Given the description of an element on the screen output the (x, y) to click on. 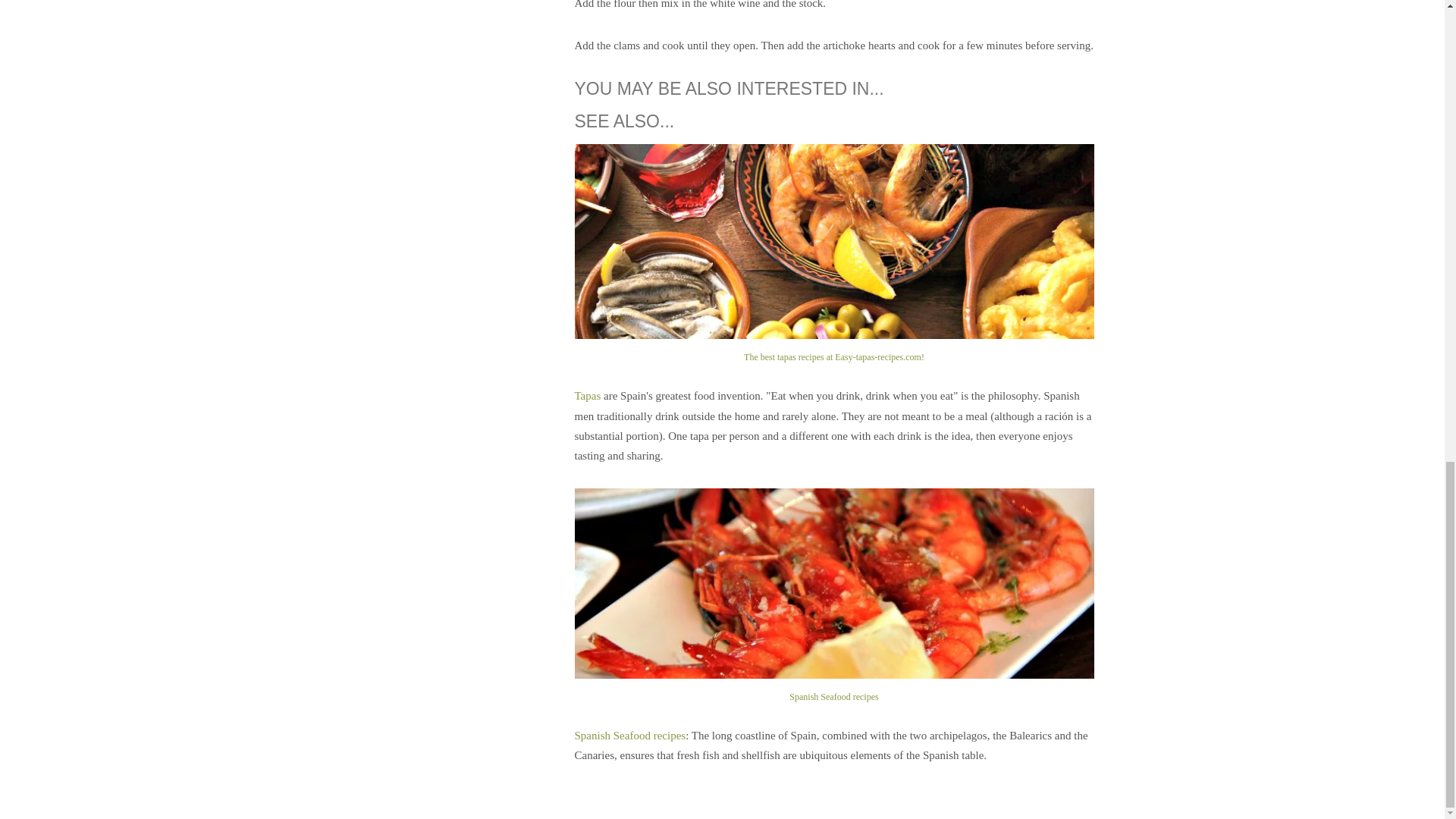
Tapas (588, 395)
Go to Spanish Seafood Recipes (834, 687)
Spanish Seafood recipes (834, 687)
Spanish Seafood recipes (630, 735)
The best tapas recipes at Easy-tapas-recipes.com! (834, 347)
